Given the description of an element on the screen output the (x, y) to click on. 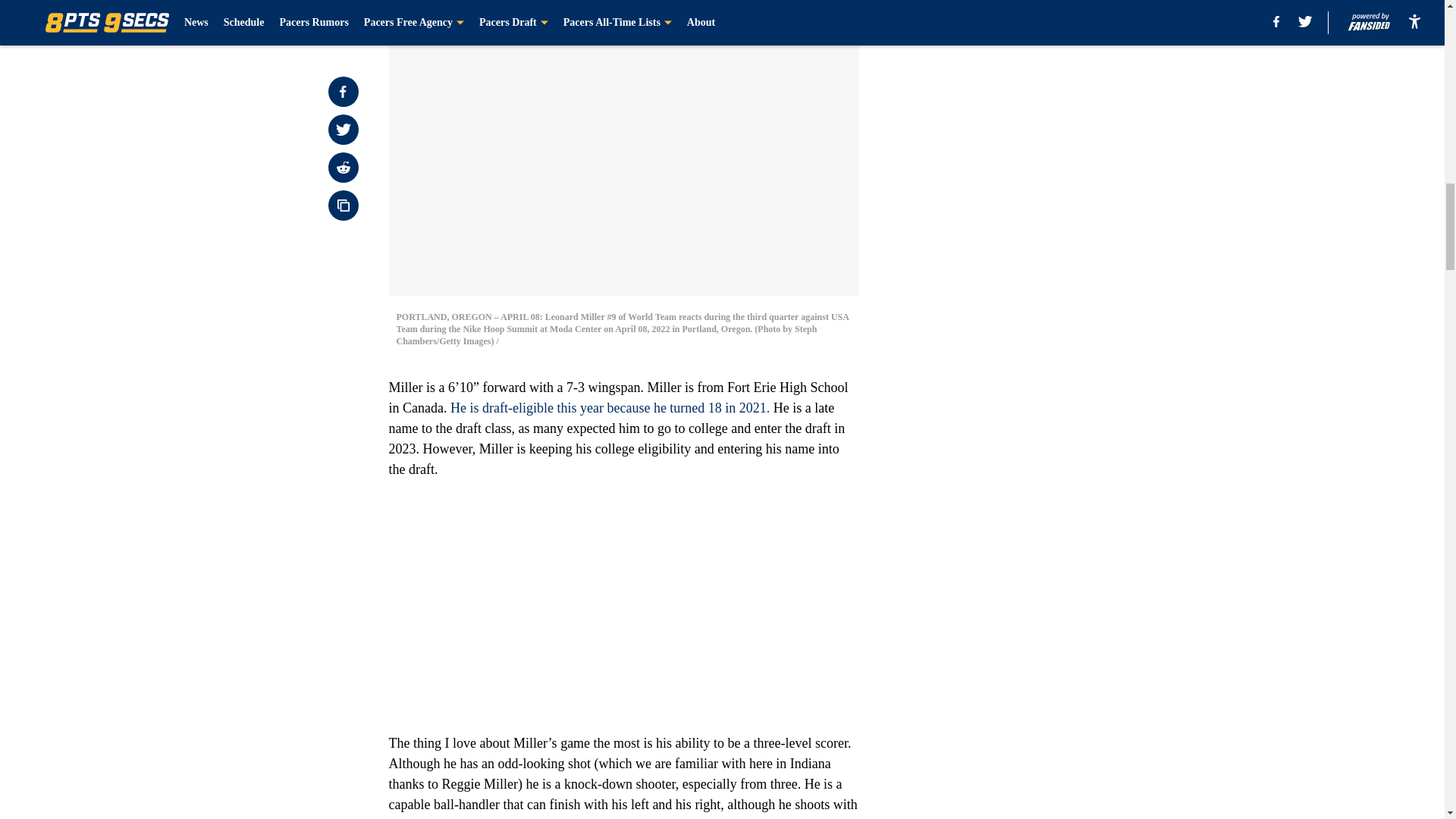
He is draft-eligible this year because he turned 18 in 2021. (609, 407)
